Given the description of an element on the screen output the (x, y) to click on. 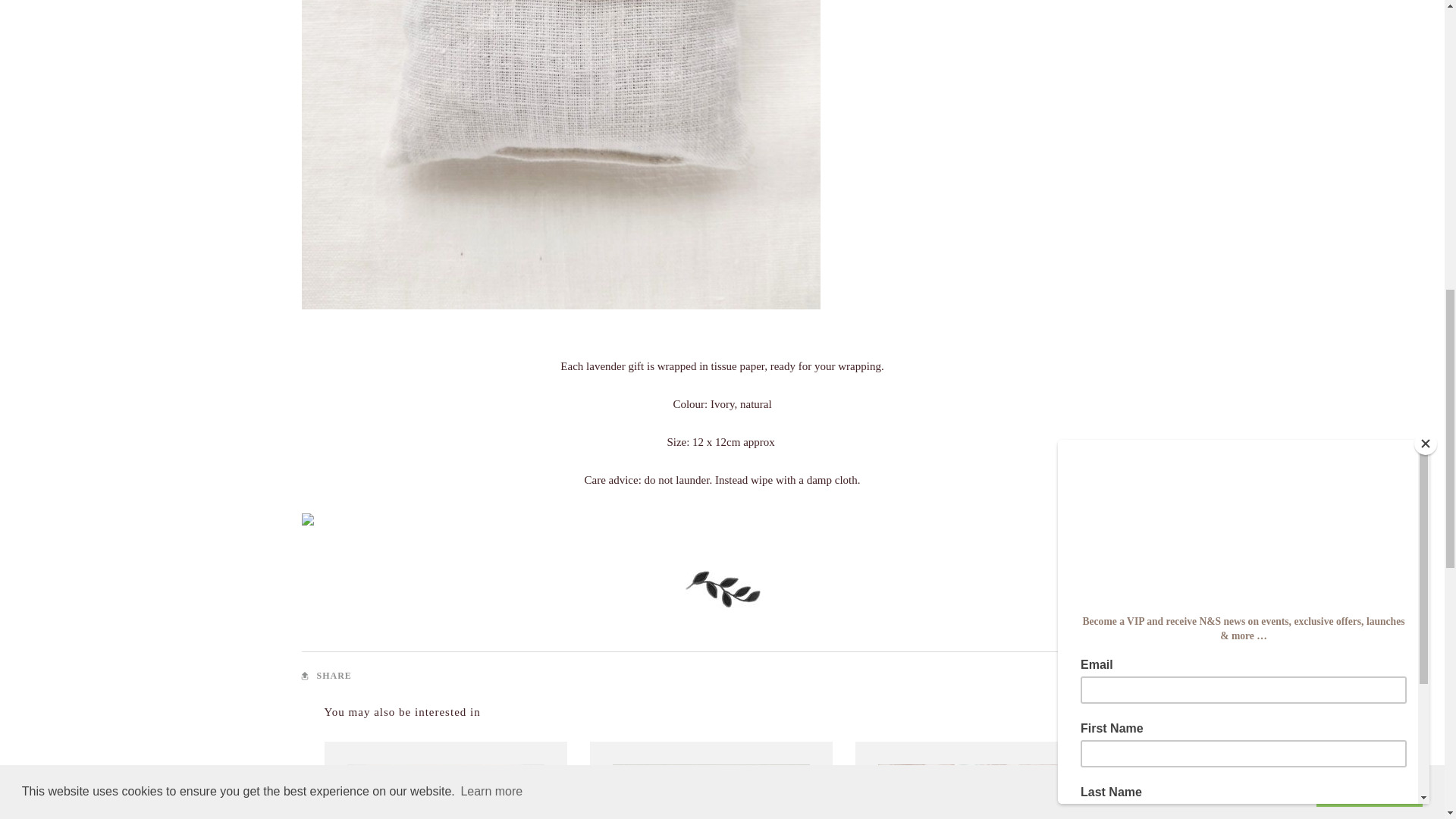
linen blue leaf detail tiny crop (722, 589)
